Given the description of an element on the screen output the (x, y) to click on. 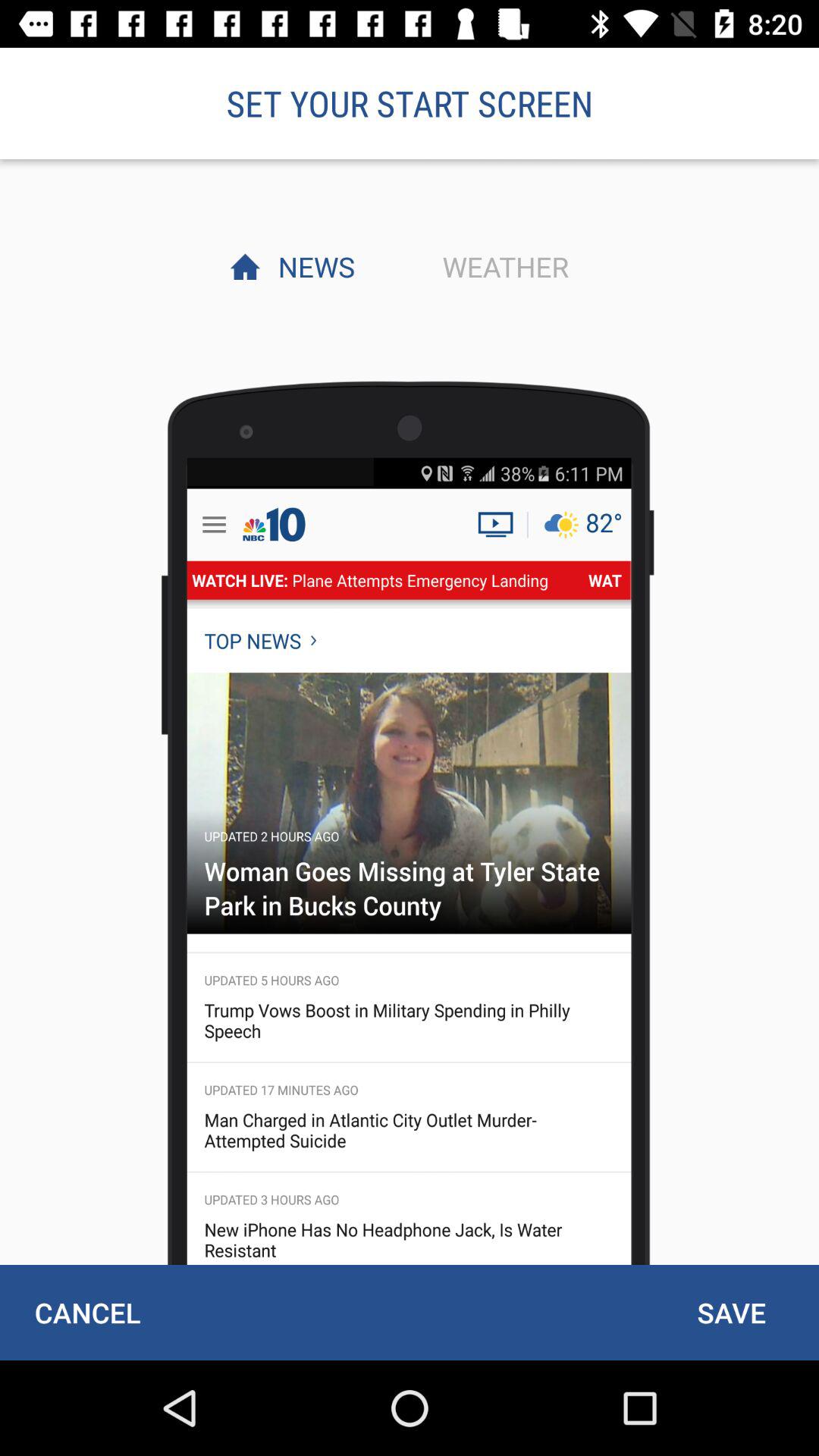
click save item (731, 1312)
